Given the description of an element on the screen output the (x, y) to click on. 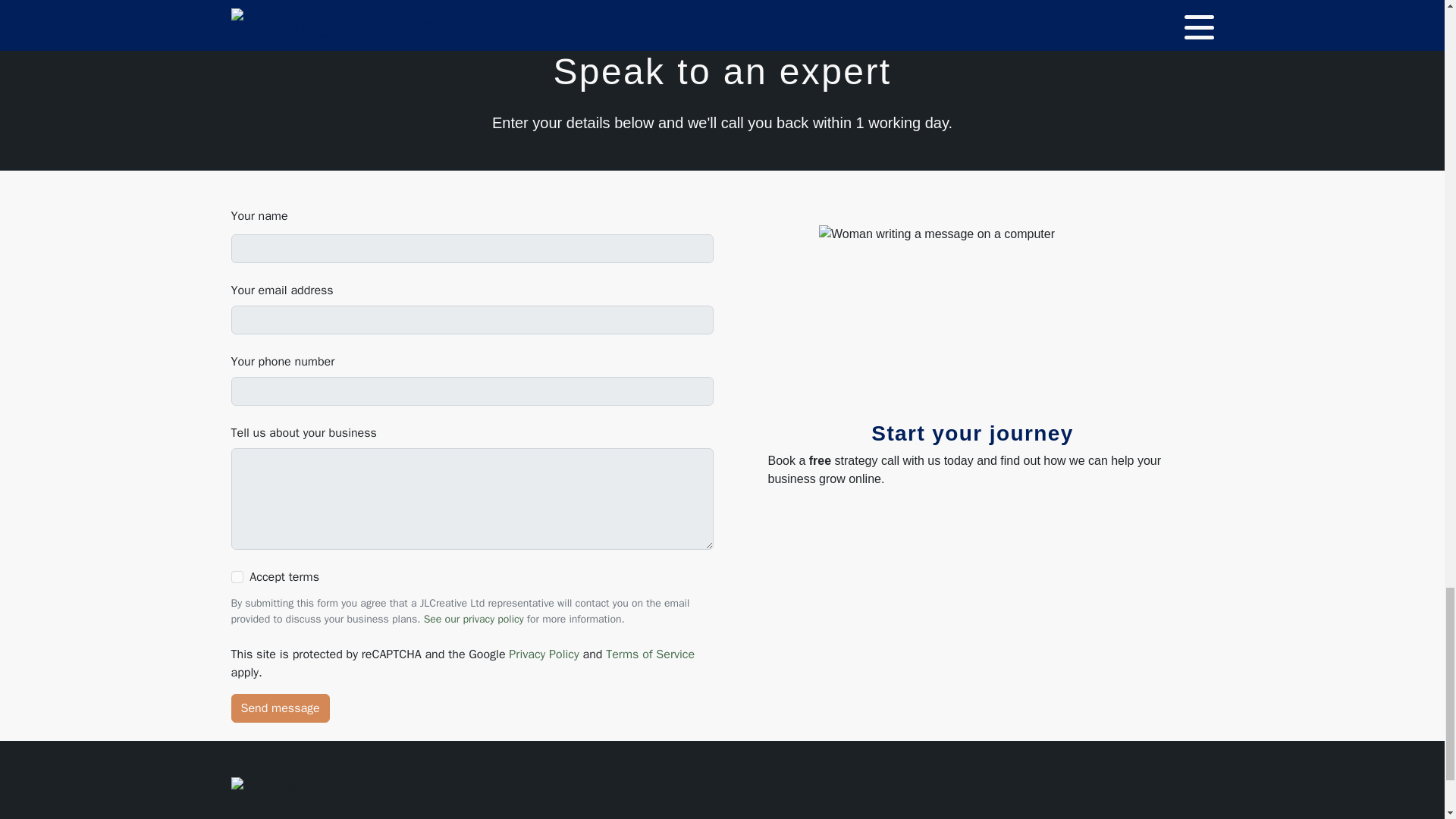
See our privacy policy (473, 618)
Terms of Service (649, 654)
Privacy Policy (543, 654)
Send message (279, 707)
1 (236, 576)
Send message (279, 707)
